Given the description of an element on the screen output the (x, y) to click on. 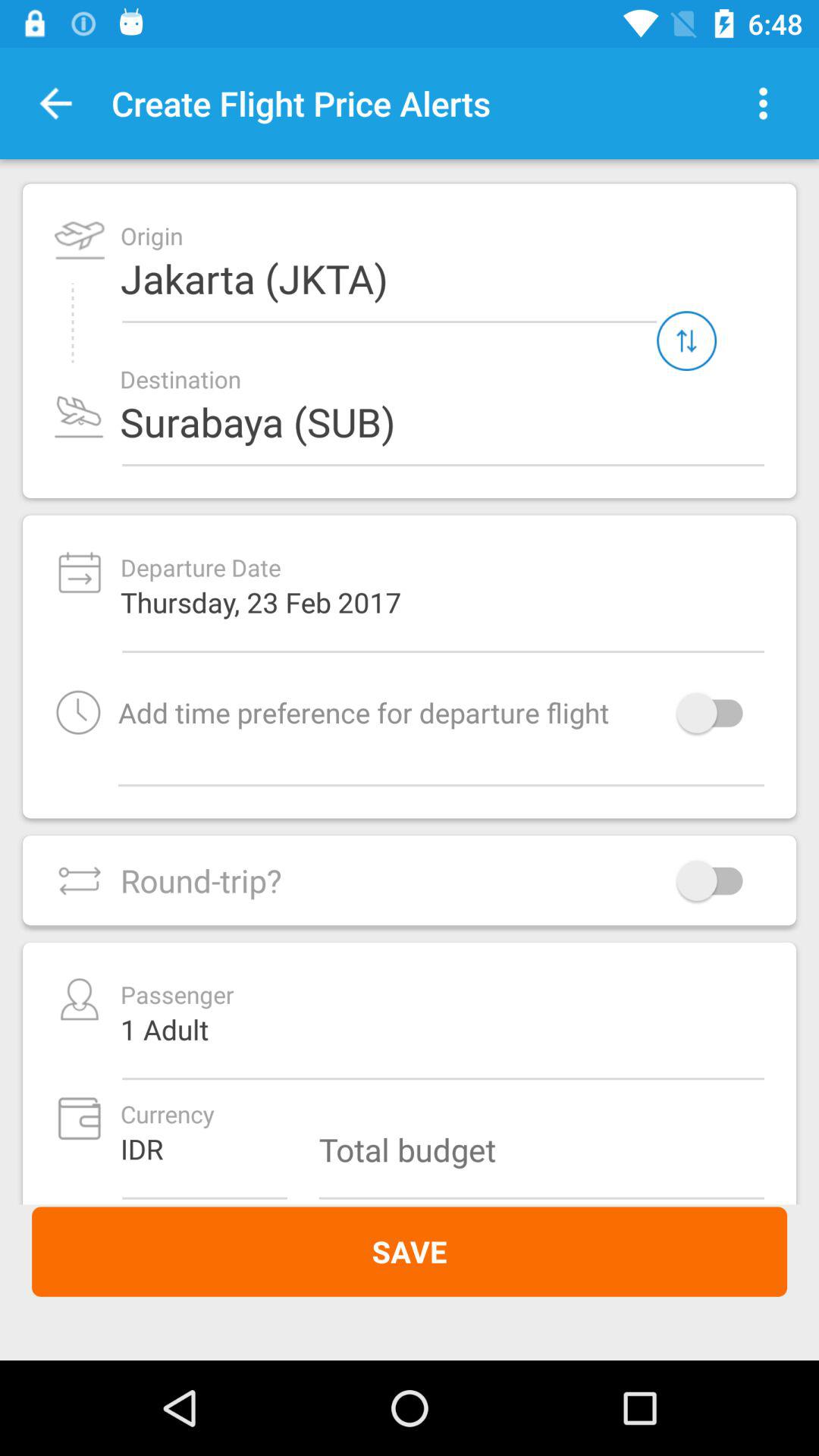
scroll to save icon (409, 1251)
